Given the description of an element on the screen output the (x, y) to click on. 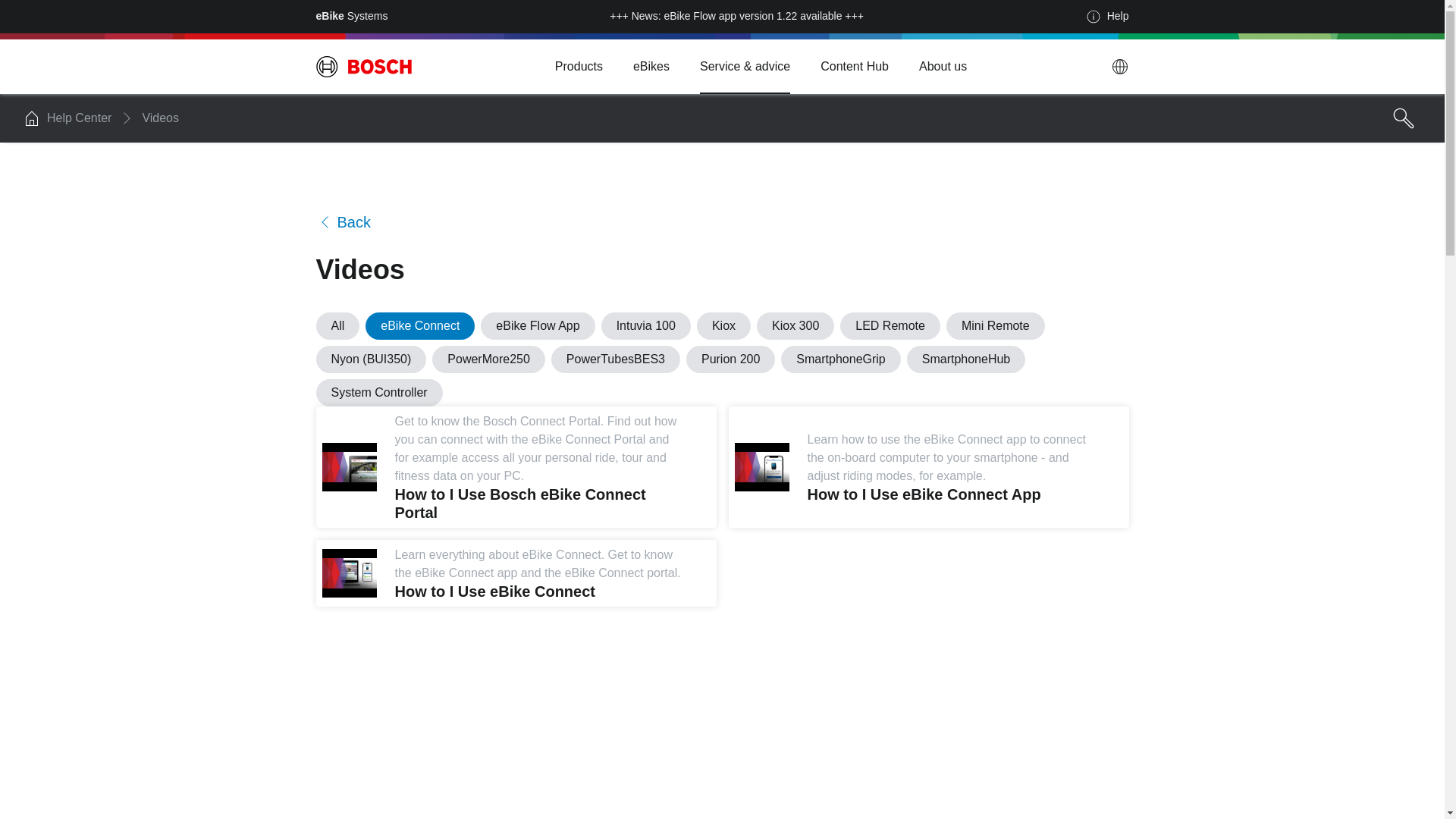
PowerMore250 (488, 359)
Help Center (79, 117)
Change language (1118, 66)
Videos (160, 117)
Purion 200 (729, 359)
All (337, 325)
Help (1107, 16)
eBike Flow App (537, 325)
Back (342, 221)
